Given the description of an element on the screen output the (x, y) to click on. 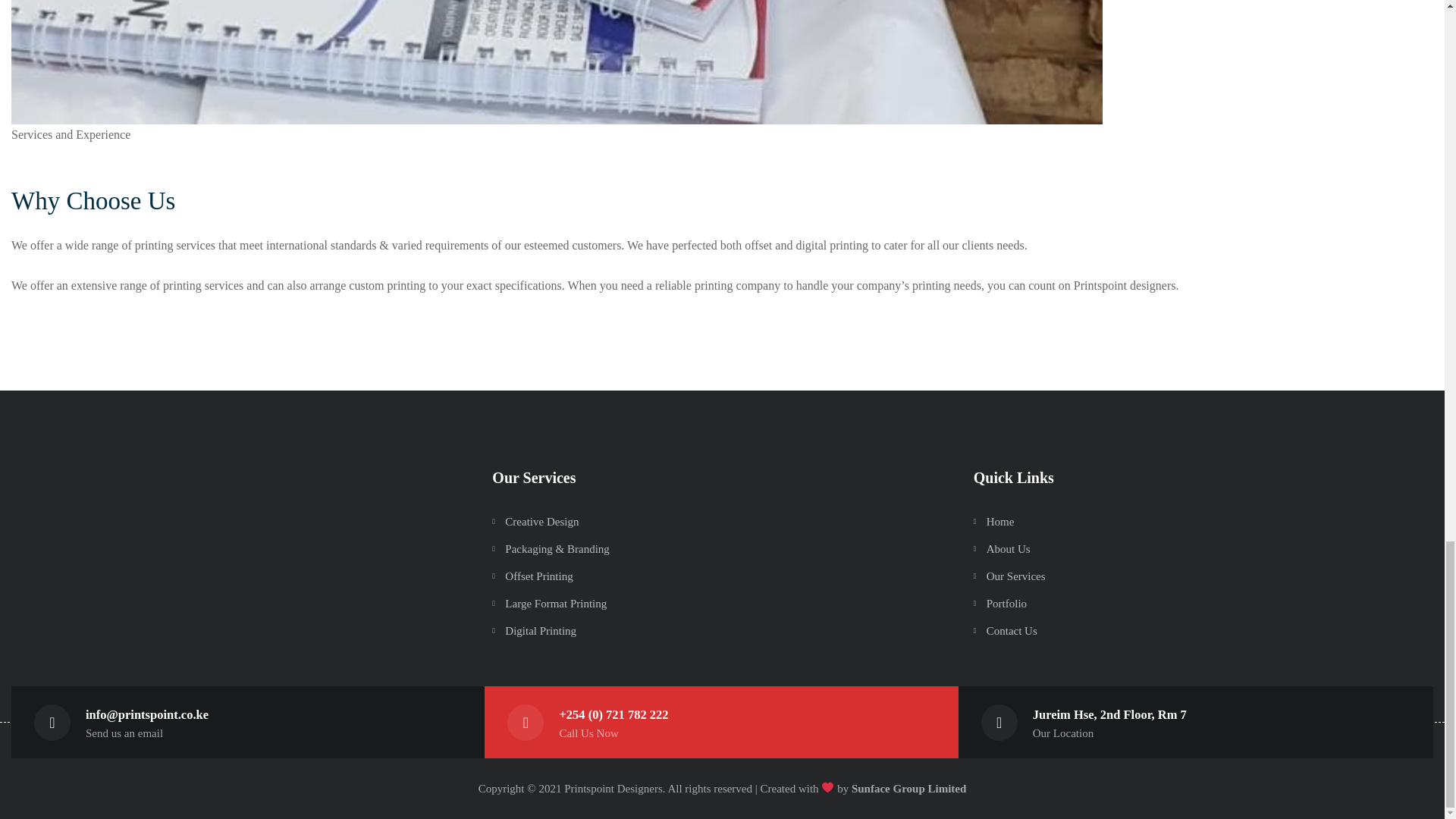
Sunface Group Limited (908, 788)
About Us (1008, 548)
Home (1000, 521)
Creative Design (541, 521)
Portfolio (1006, 603)
Our Services (1016, 576)
Offset Printing (538, 576)
Contact Us (1011, 630)
Large Format Printing (556, 603)
Digital Printing (540, 630)
